Given the description of an element on the screen output the (x, y) to click on. 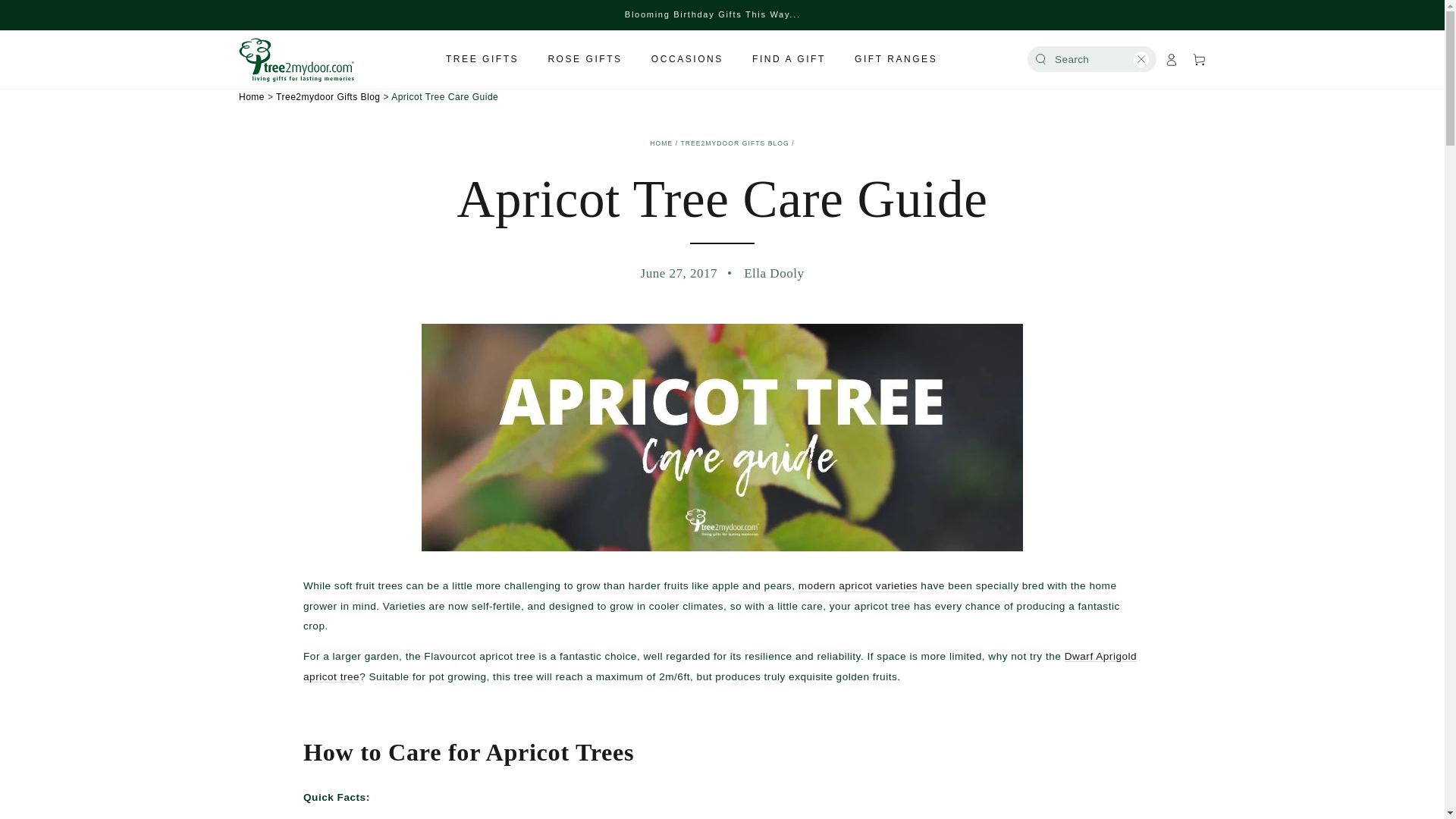
Blooming Birthday Gifts This Way... (712, 14)
SKIP TO CONTENT (57, 12)
Back to the frontpage (660, 143)
